Given the description of an element on the screen output the (x, y) to click on. 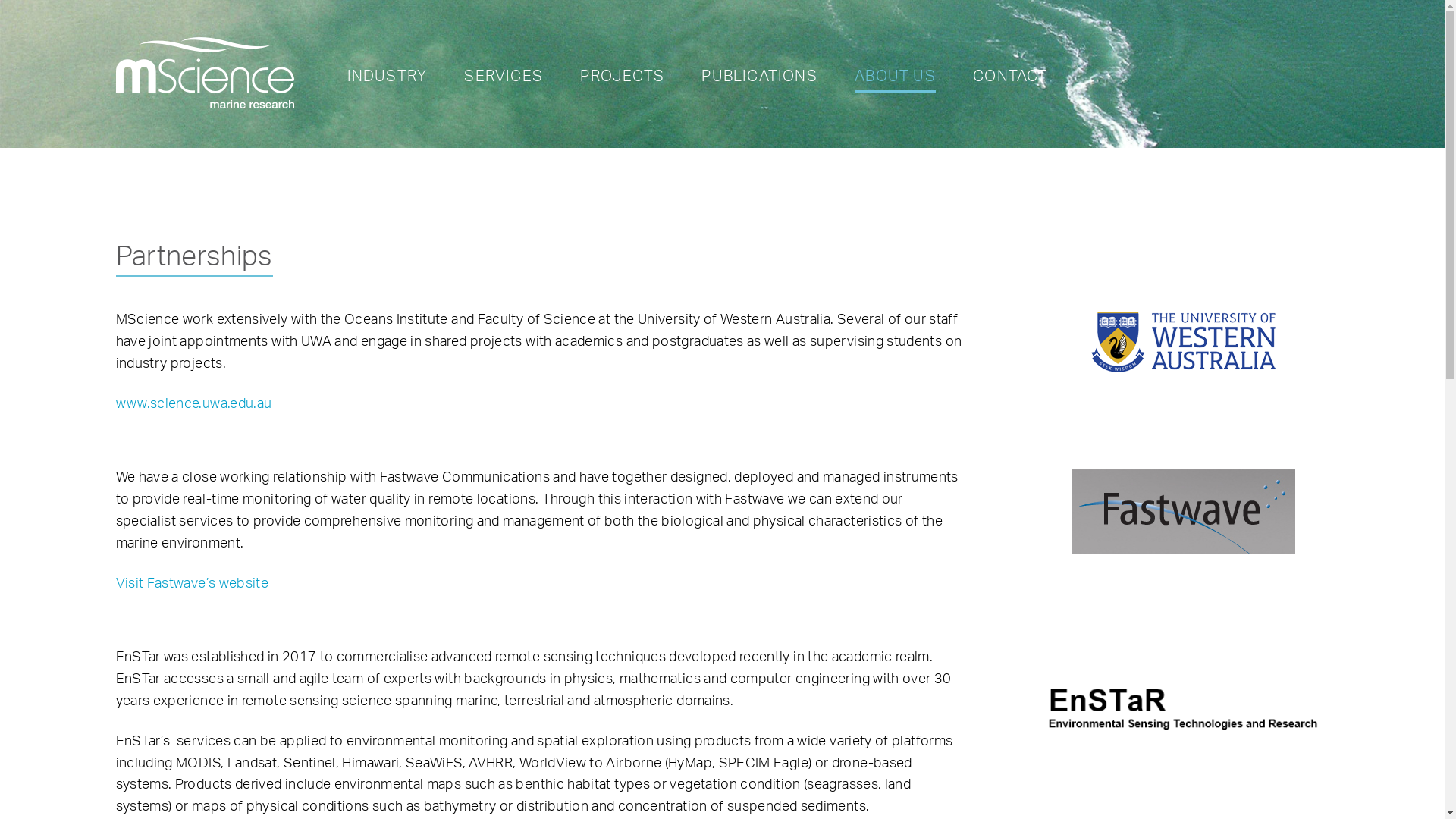
ABOUT US Element type: text (894, 80)
www.science.uwa.edu.au Element type: text (193, 402)
MScience Element type: hover (204, 72)
CONTACT Element type: text (1009, 80)
PROJECTS Element type: text (622, 80)
             Element type: text (1182, 679)
INDUSTRY Element type: text (387, 80)
PUBLICATIONS Element type: text (758, 80)
SERVICES Element type: text (503, 80)
